Given the description of an element on the screen output the (x, y) to click on. 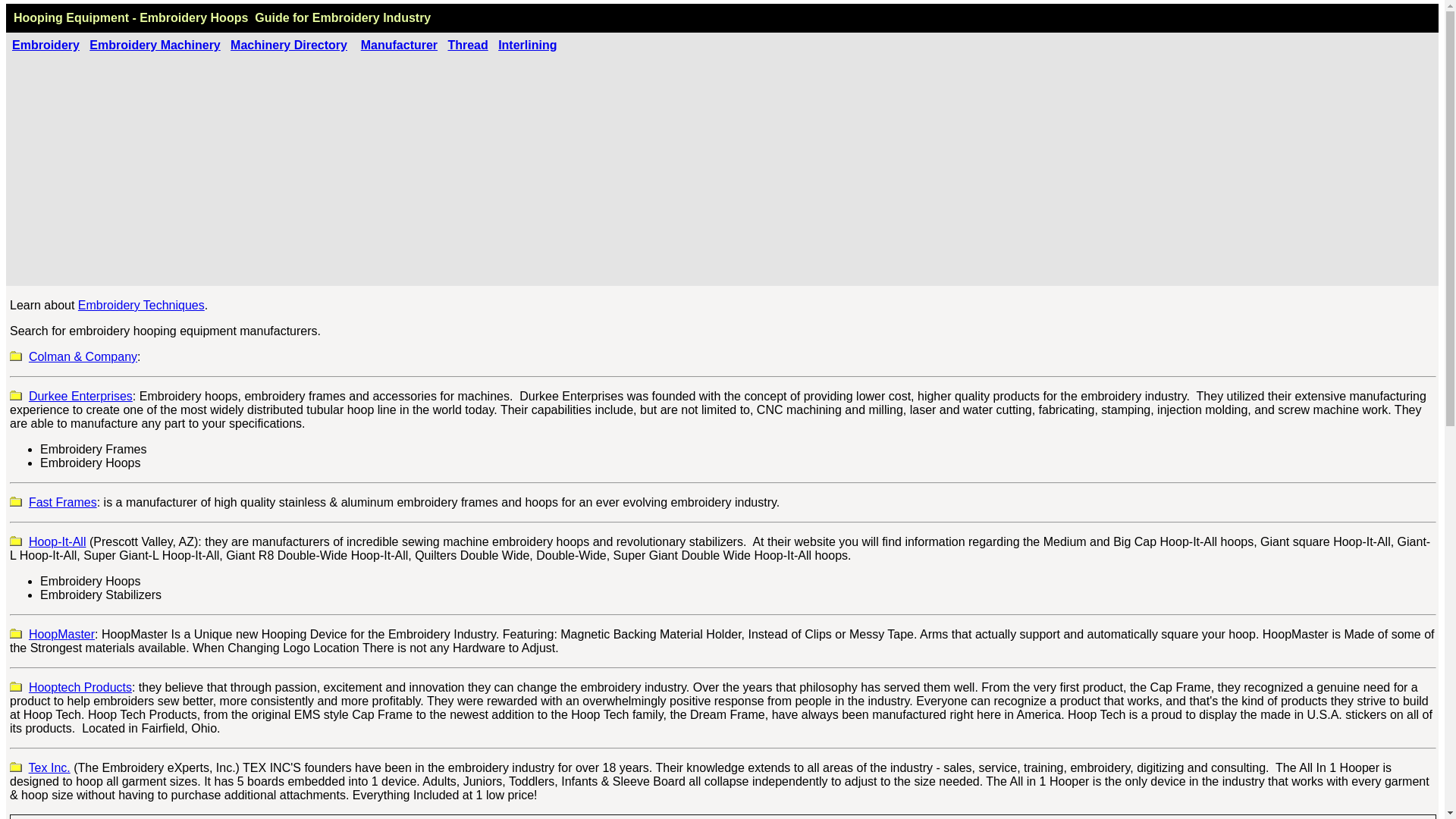
fashion directory folder (15, 633)
fashion directory folder (15, 541)
Fast Frames (63, 502)
fashion directory folder (15, 767)
fashion directory folder (15, 686)
Embroidery (45, 44)
fashion directory folder (15, 395)
Machinery Directory (288, 44)
Tex Inc. (49, 767)
Embroidery Techniques (141, 305)
Hooptech Products (80, 686)
Thread (466, 44)
Embroidery Machinery (154, 44)
Manufacturer (399, 44)
